Given the description of an element on the screen output the (x, y) to click on. 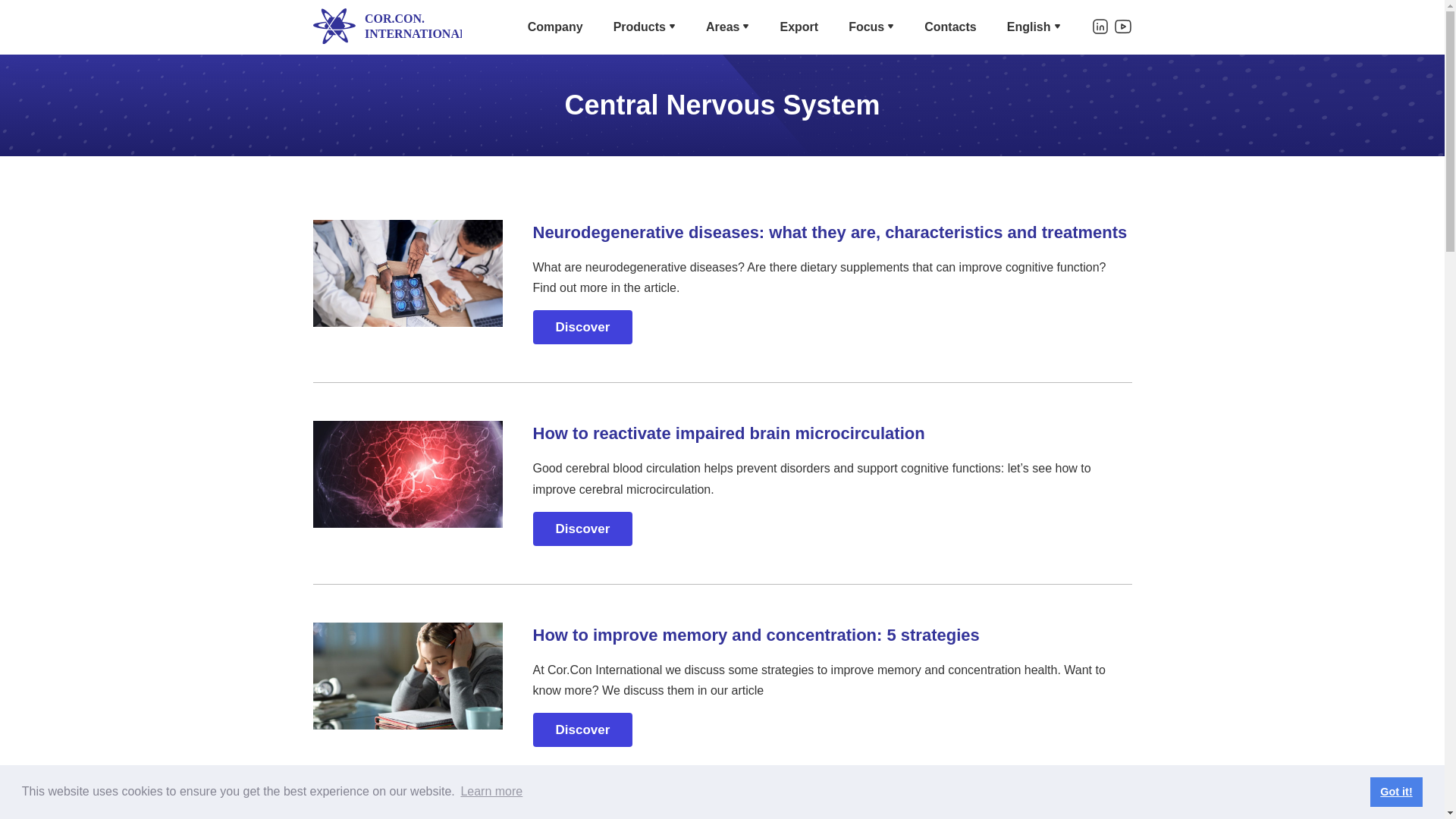
Got it! (1396, 791)
English (1029, 26)
Linkedin (1099, 26)
Contacts (949, 26)
COR.CON. INTERNATIONAL (387, 26)
Products (638, 26)
English (1029, 26)
Learn more (491, 791)
Company (555, 26)
YouTube (1122, 26)
COR.CON. INTERNATIONAL (387, 26)
Export (798, 26)
Focus (865, 26)
Areas (722, 26)
